Given the description of an element on the screen output the (x, y) to click on. 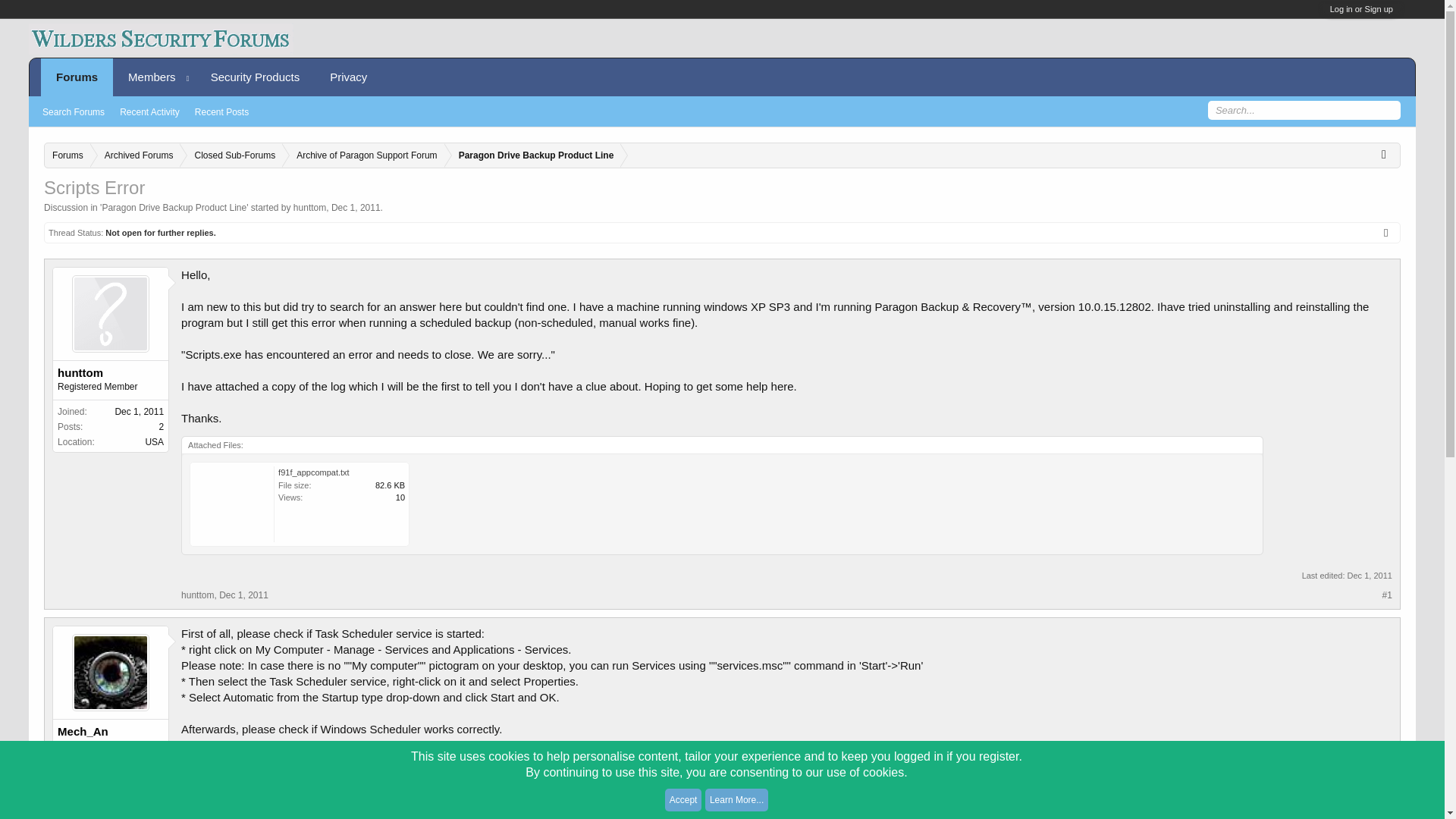
hunttom (310, 207)
Paragon Drive Backup Product Line (533, 155)
Dec 1, 2011 (355, 207)
Log in or Sign up (1361, 8)
855 (155, 786)
Closed Sub-Forums (231, 155)
Archive of Paragon Support Forum (363, 155)
USA (153, 441)
Enter your search and hit enter (1302, 109)
hunttom (110, 372)
Paragon Drive Backup Product Line (173, 207)
Dec 1, 2011 at 12:24 PM (1369, 574)
Dec 1, 2011 (243, 594)
Permalink (243, 594)
Permalink (248, 783)
